Given the description of an element on the screen output the (x, y) to click on. 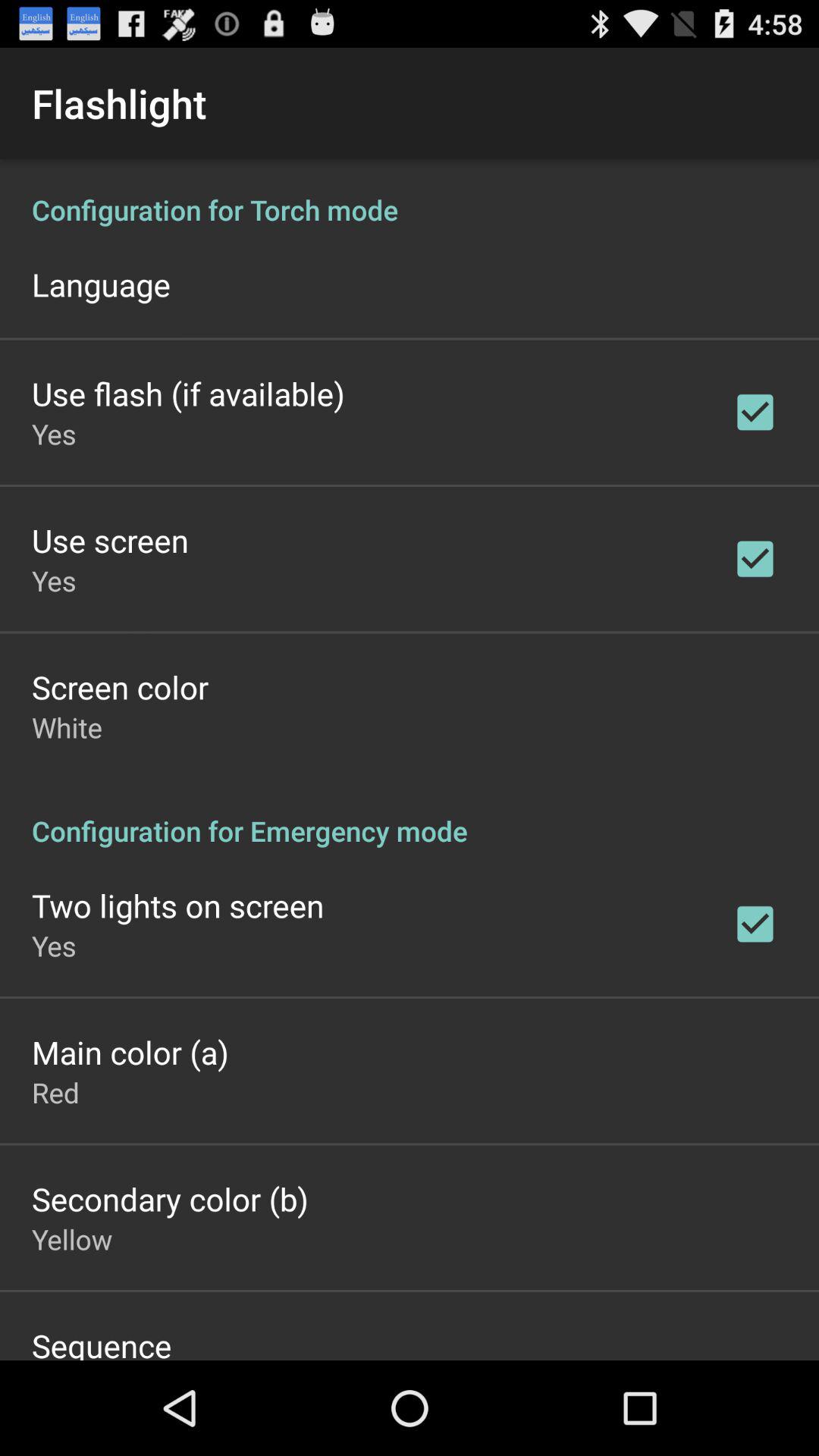
flaslight black display menu options (409, 759)
